Given the description of an element on the screen output the (x, y) to click on. 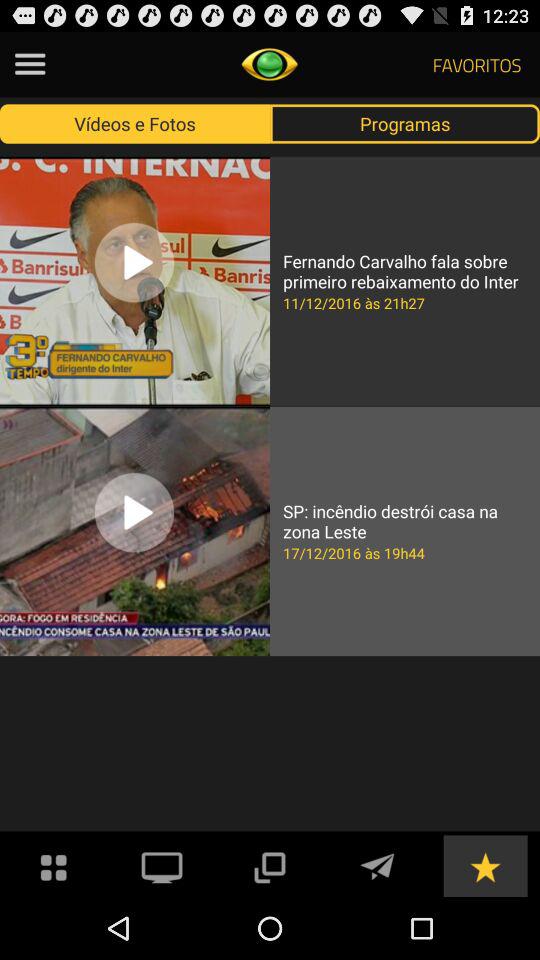
saved videos (485, 865)
